Given the description of an element on the screen output the (x, y) to click on. 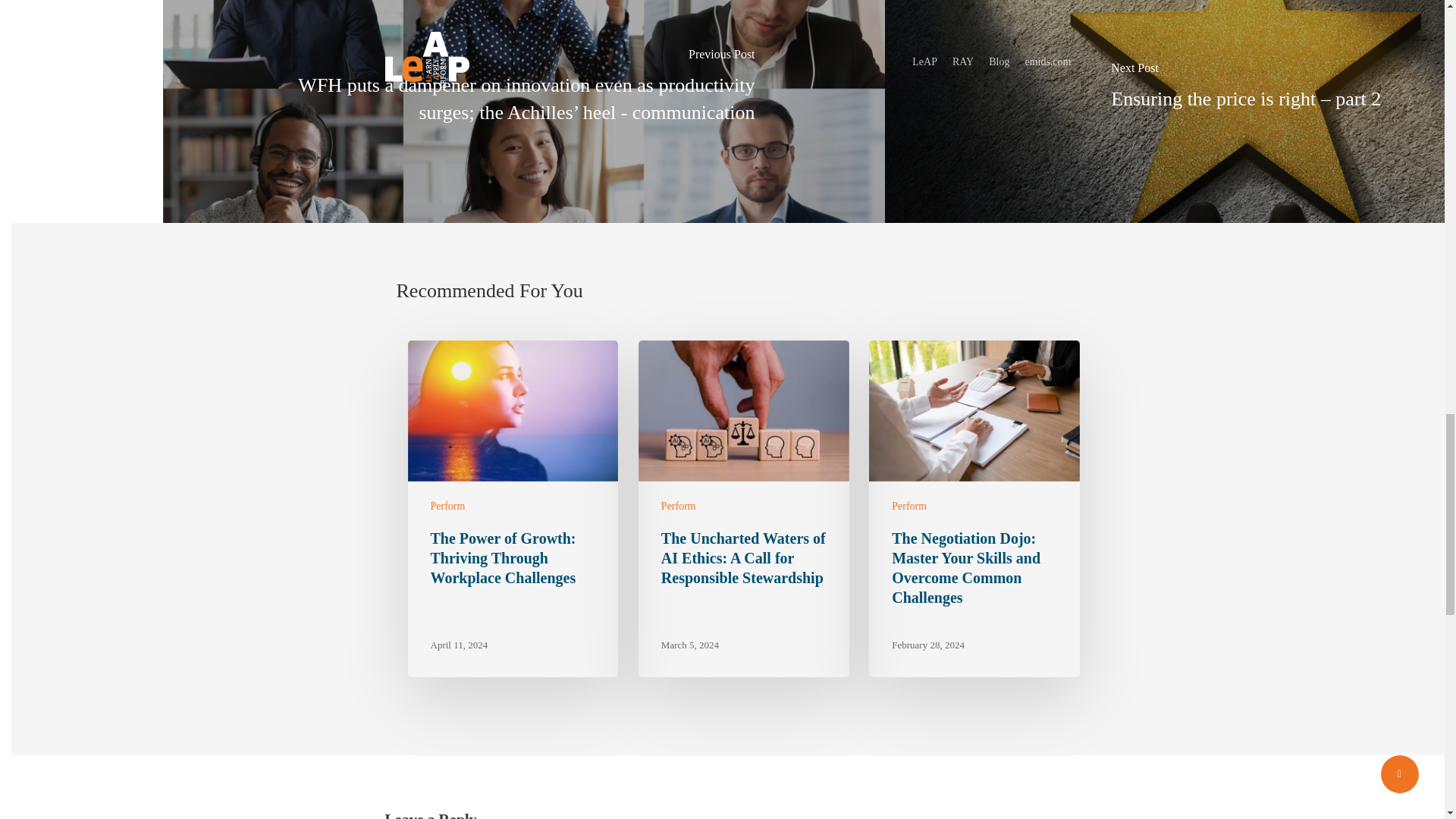
Perform (447, 505)
Perform (908, 505)
Perform (678, 505)
